Given the description of an element on the screen output the (x, y) to click on. 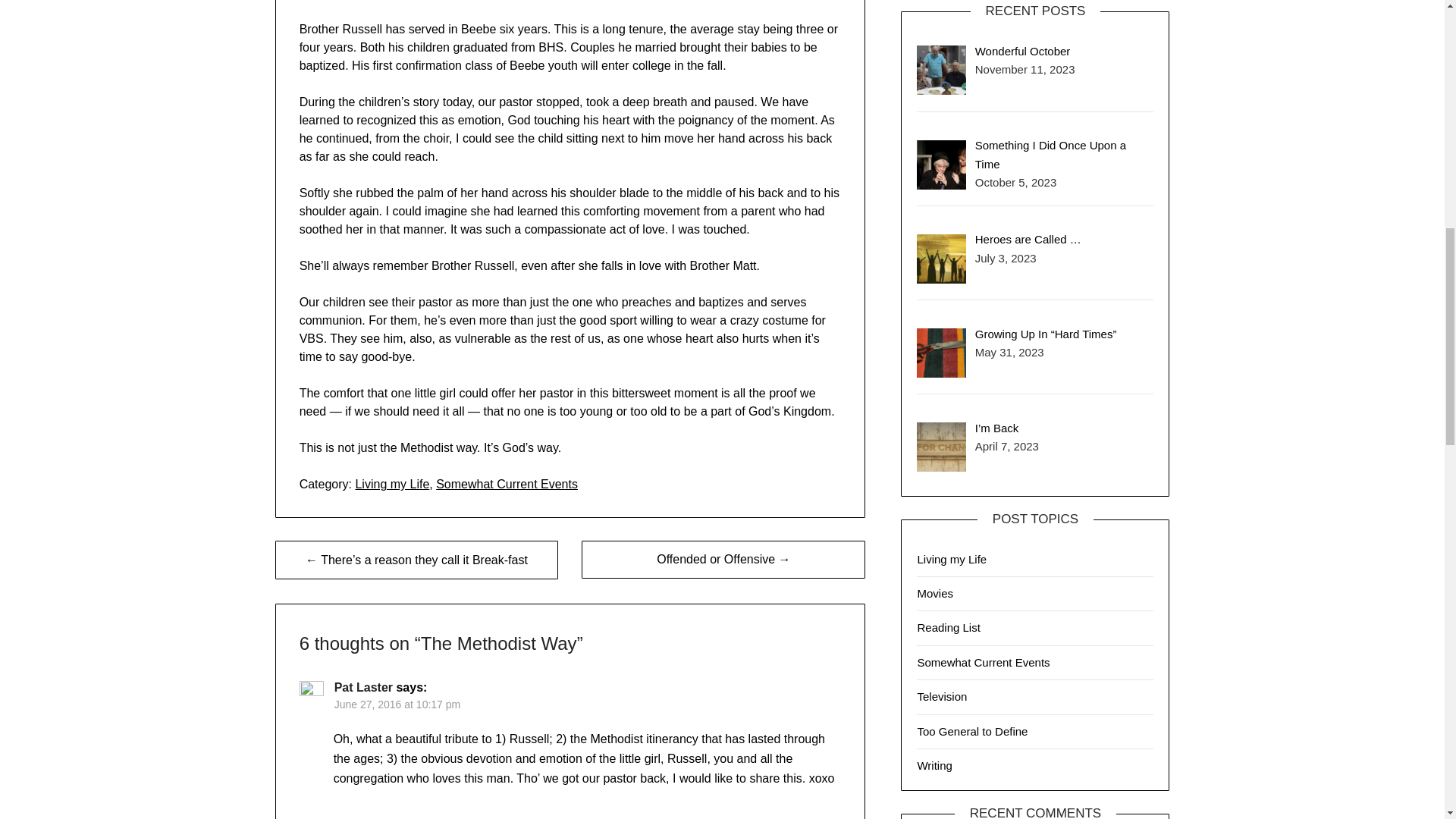
Wonderful October (1022, 51)
Living my Life (392, 483)
Movies (935, 593)
Something I Did Once Upon a Time (1050, 153)
June 27, 2016 at 10:17 pm (397, 703)
Reading List (948, 626)
Somewhat Current Events (506, 483)
Living my Life (952, 558)
Pat Laster (363, 686)
